Given the description of an element on the screen output the (x, y) to click on. 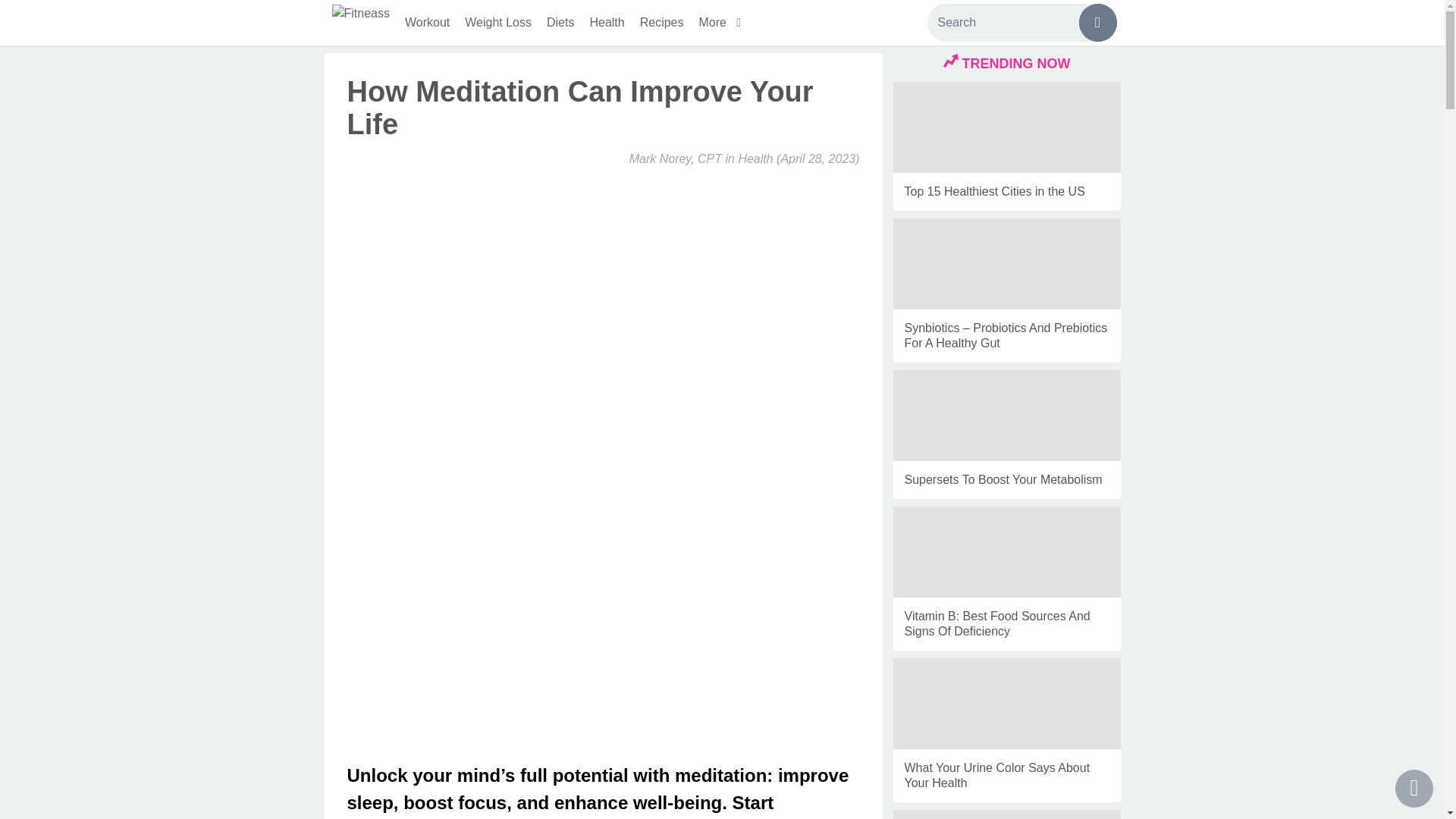
Weight Loss (497, 22)
Mark Norey, CPT (675, 158)
Health (605, 22)
Health (755, 158)
More (723, 22)
Recipes (661, 22)
Posts by Mark Norey, CPT (675, 158)
Diets (559, 22)
Workout (427, 22)
Search (1021, 22)
